Given the description of an element on the screen output the (x, y) to click on. 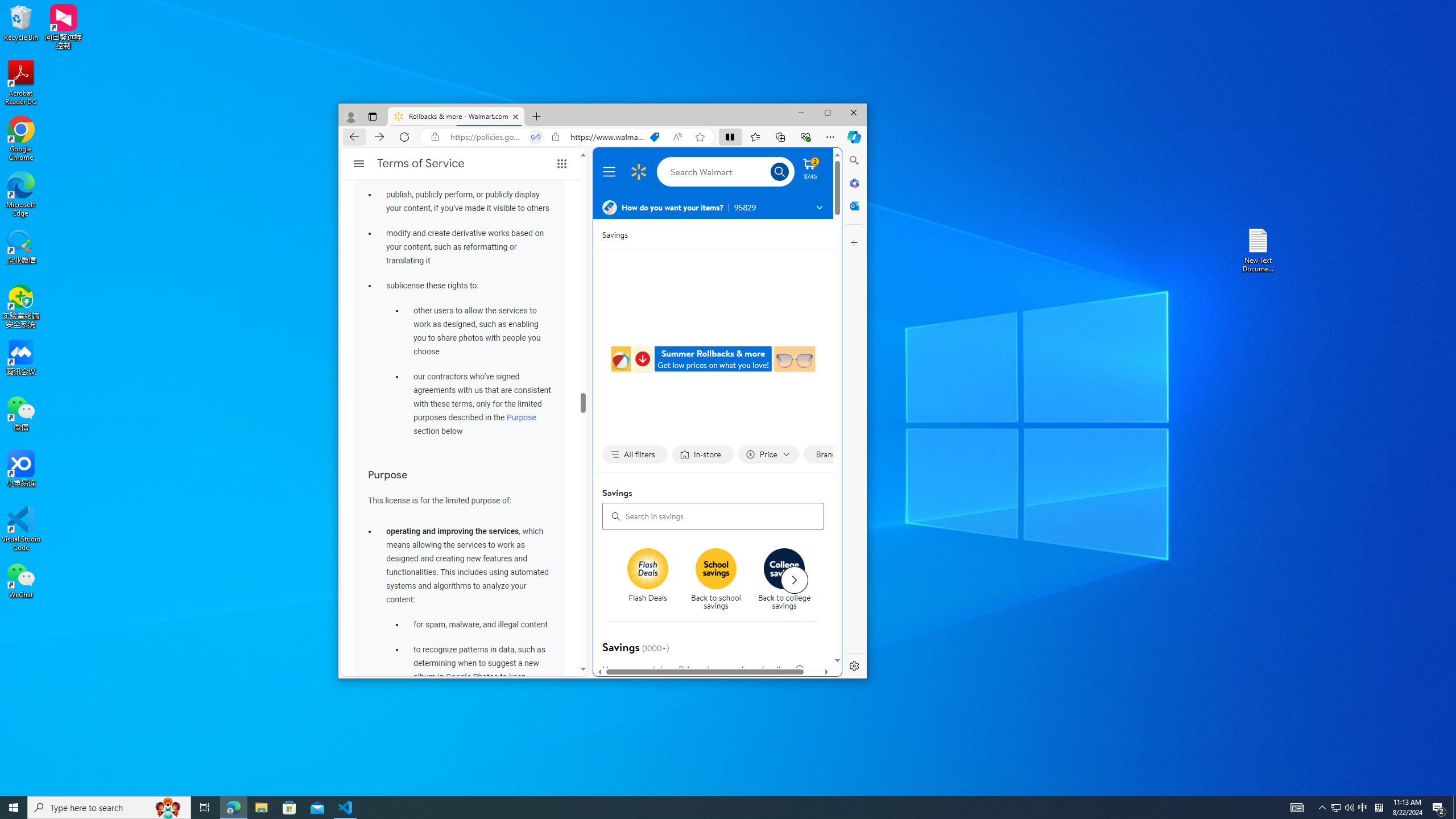
This site has coupons! Shopping in Microsoft Edge, 7 (654, 136)
Action Center, 2 new notifications (1439, 807)
Filter by Price not applied, activate to change (768, 454)
Notification Chevron (1322, 807)
Tray Input Indicator - Chinese (Simplified, China) (1378, 807)
Start (13, 807)
Search icon (1362, 807)
